Given the description of an element on the screen output the (x, y) to click on. 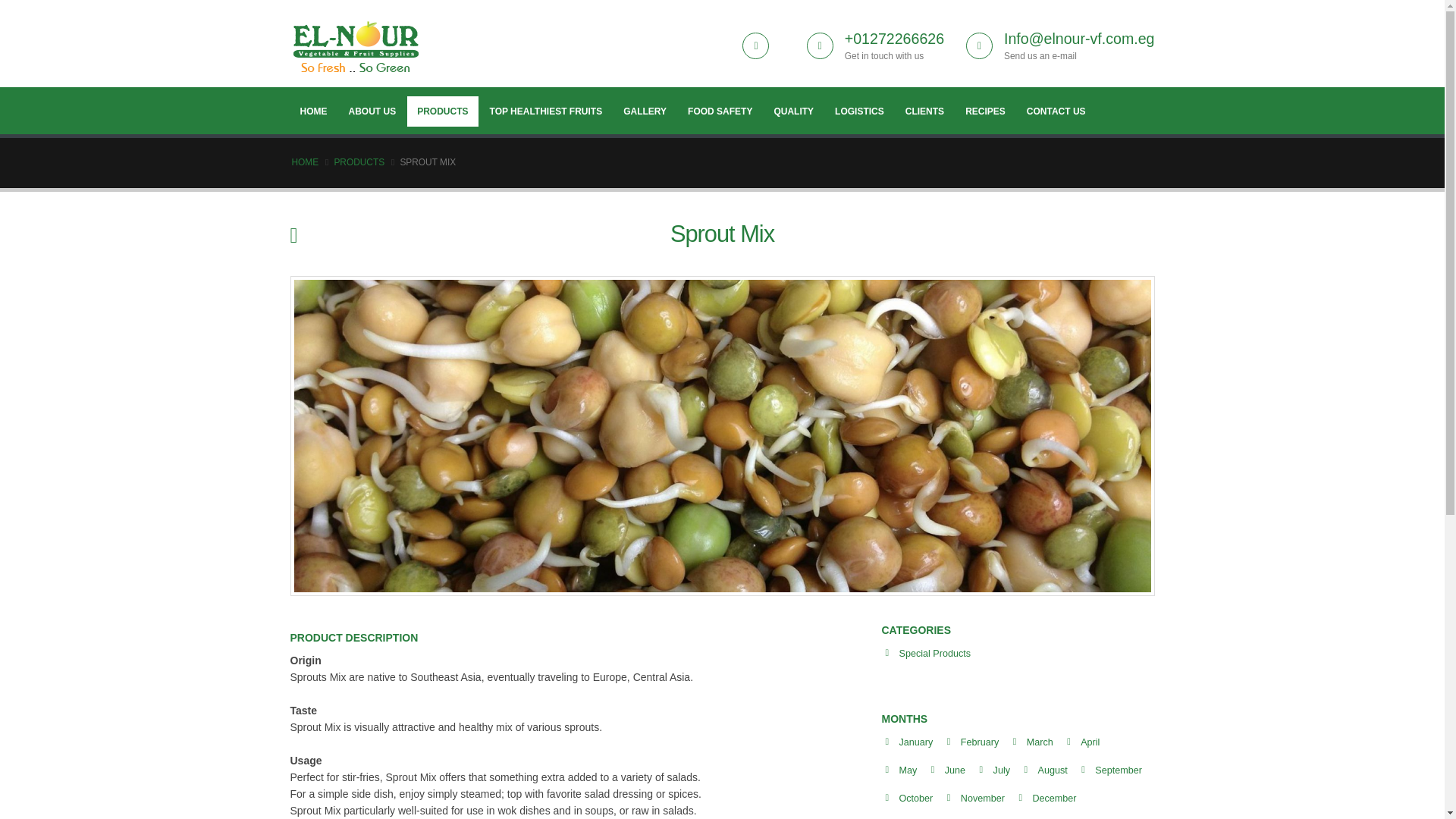
October (916, 798)
RECIPES (984, 111)
HOME (312, 111)
TOP HEALTHIEST FRUITS (546, 111)
January (916, 742)
GALLERY (644, 111)
March (1039, 742)
June (954, 769)
April (1089, 742)
HOME (304, 162)
November (982, 798)
PRODUCTS (358, 162)
CLIENTS (924, 111)
CONTACT US (1056, 111)
LOGISTICS (859, 111)
